Given the description of an element on the screen output the (x, y) to click on. 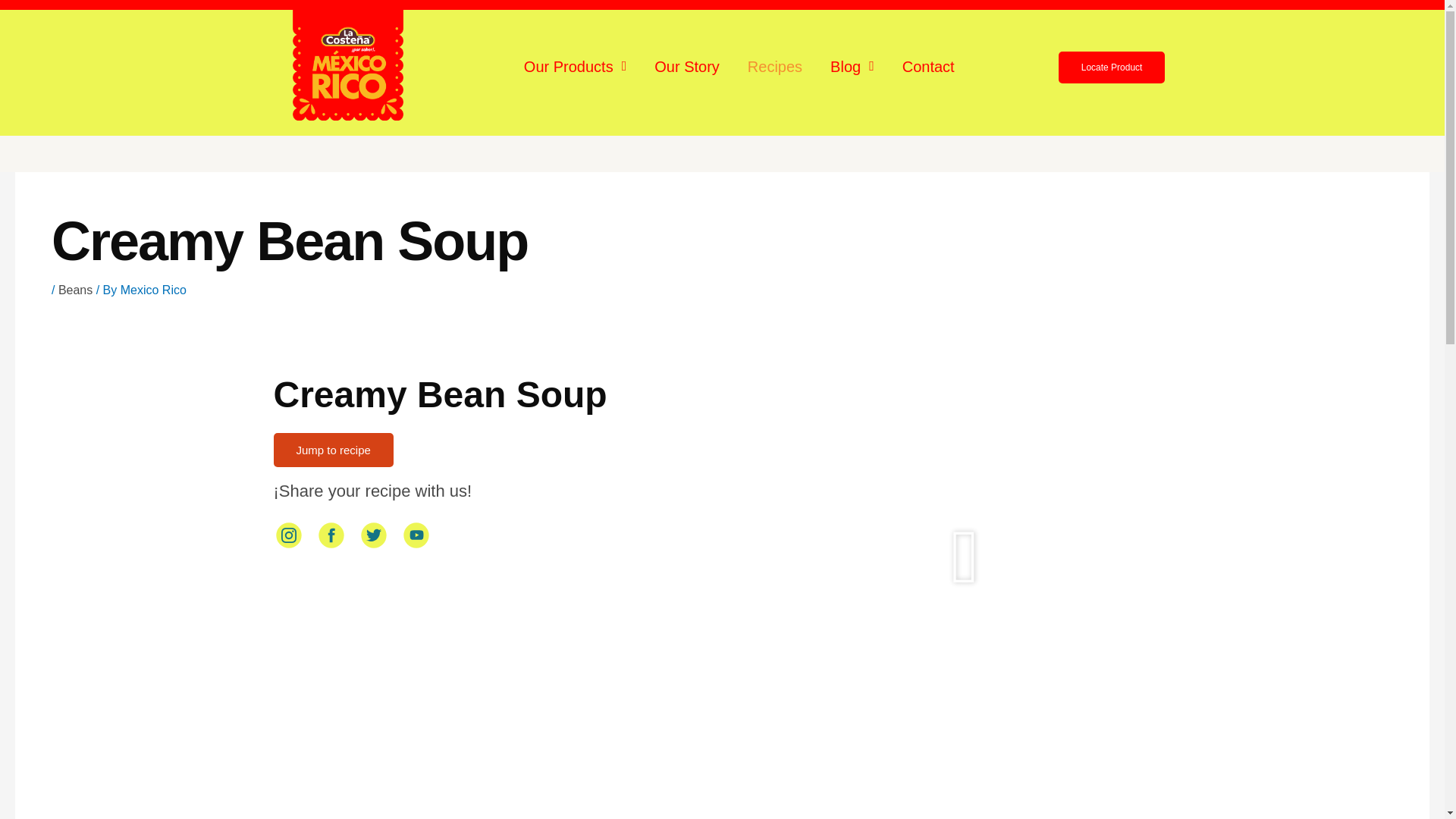
View all posts by Mexico Rico (153, 289)
Our Products (574, 66)
Mexico Rico (153, 289)
Locate Product (1112, 67)
Mexicorico (348, 60)
Beans (75, 289)
Jump to recipe (333, 449)
